Given the description of an element on the screen output the (x, y) to click on. 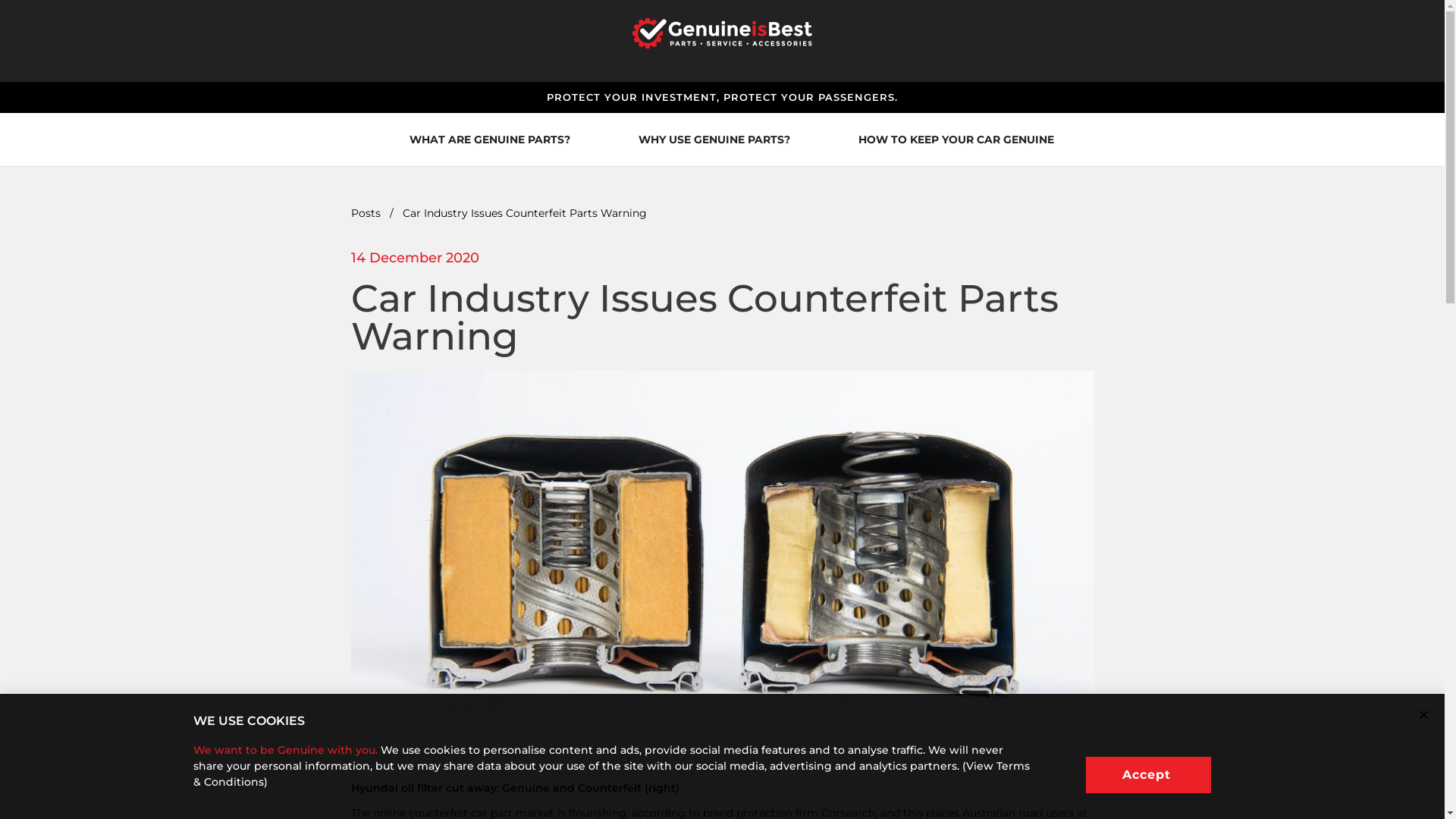
Accept Element type: text (1148, 774)
WHAT ARE GENUINE PARTS? Element type: text (489, 139)
WHY USE GENUINE PARTS? Element type: text (714, 139)
HOW TO KEEP YOUR CAR GENUINE Element type: text (956, 139)
Posts Element type: text (364, 212)
